Given the description of an element on the screen output the (x, y) to click on. 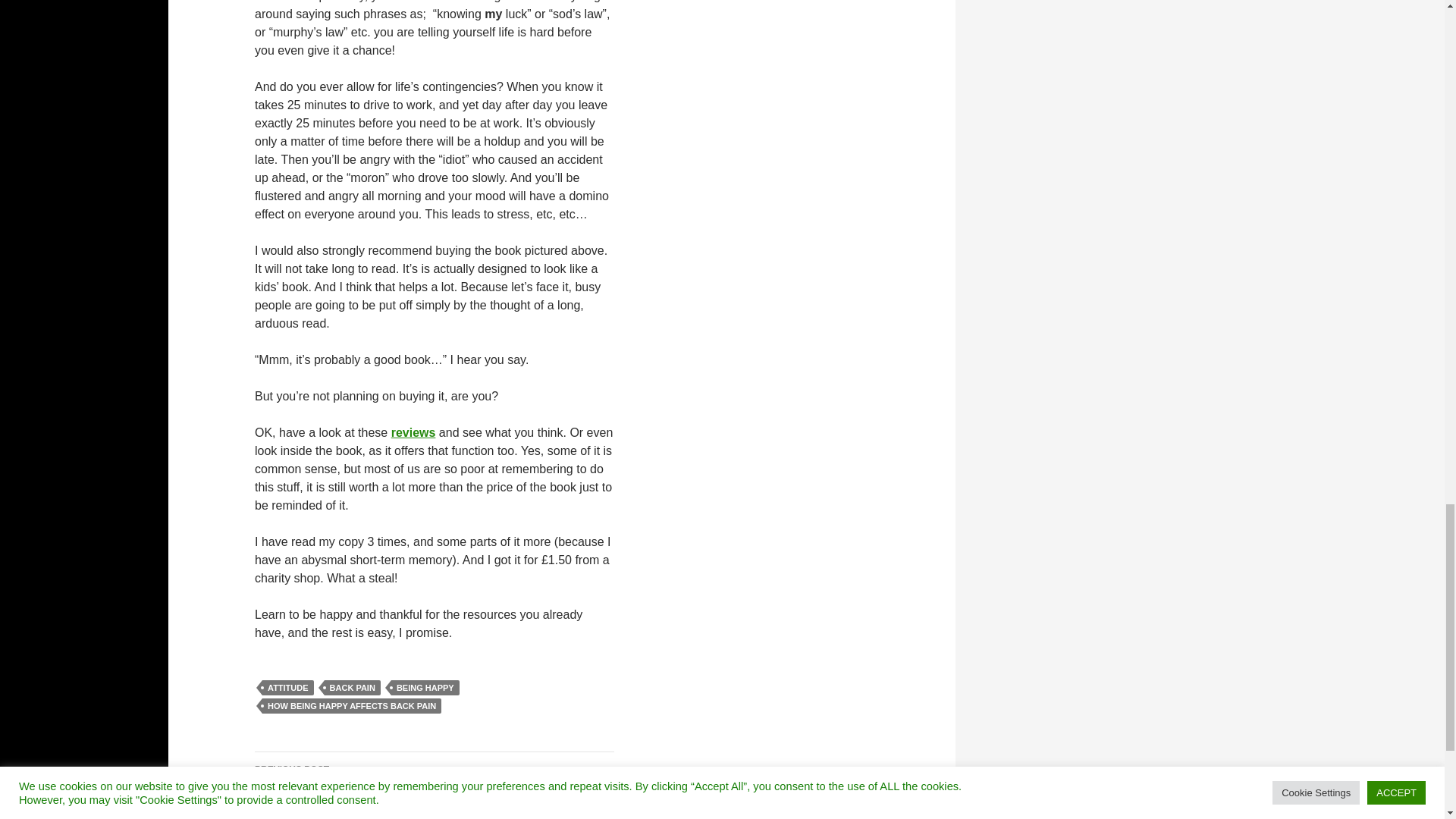
HOW BEING HAPPY AFFECTS BACK PAIN (351, 705)
reviews (413, 431)
ATTITUDE (288, 687)
BEING HAPPY (425, 687)
BACK PAIN (352, 687)
